Given the description of an element on the screen output the (x, y) to click on. 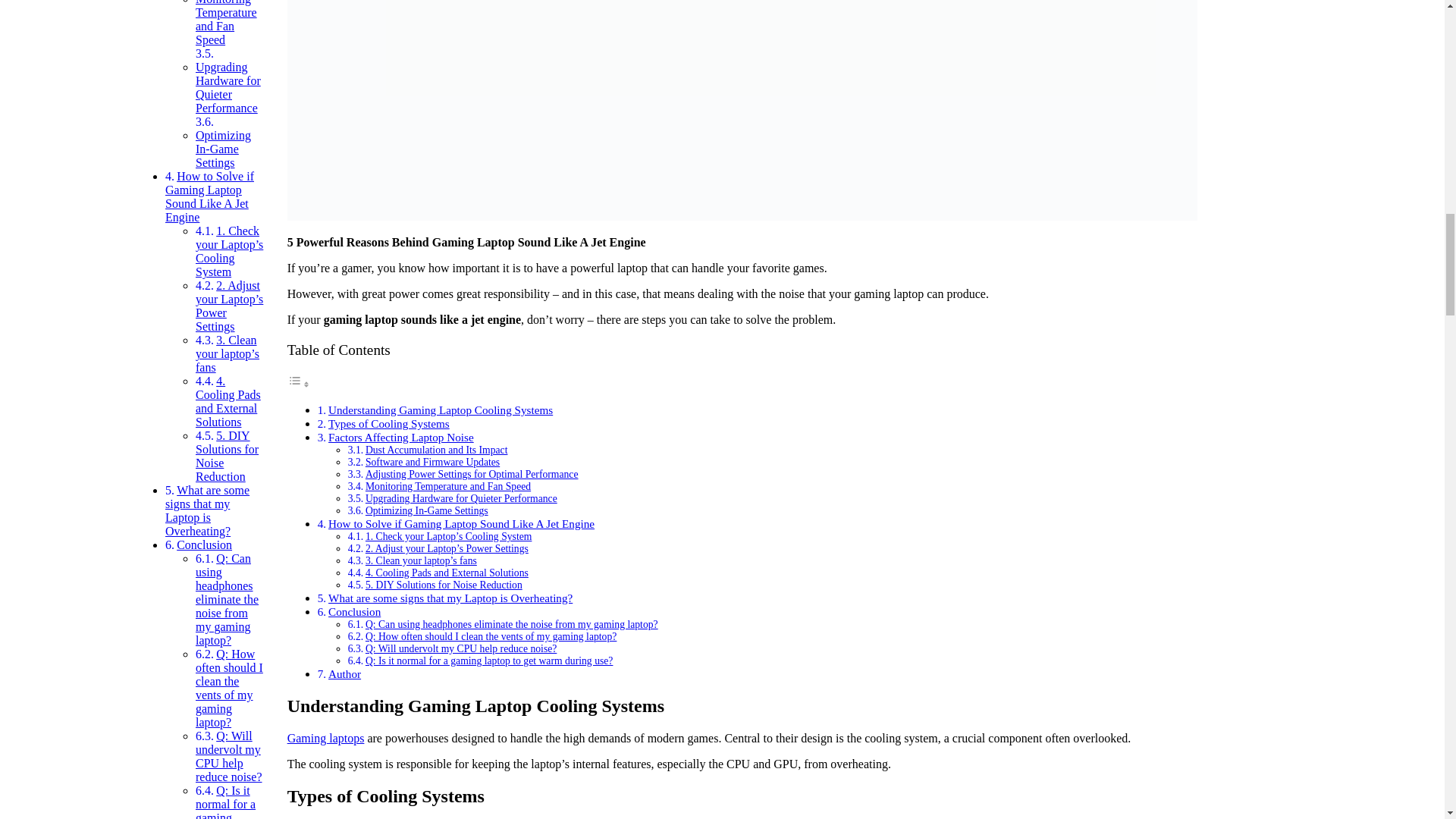
How to Solve if Gaming Laptop Sound Like A Jet Engine (209, 196)
Upgrading Hardware for Quieter Performance (227, 87)
Monitoring Temperature and Fan Speed (226, 22)
Optimizing In-Game Settings (222, 148)
Upgrading Hardware for Quieter Performance (227, 87)
Monitoring Temperature and Fan Speed (226, 22)
Optimizing In-Game Settings (222, 148)
